Given the description of an element on the screen output the (x, y) to click on. 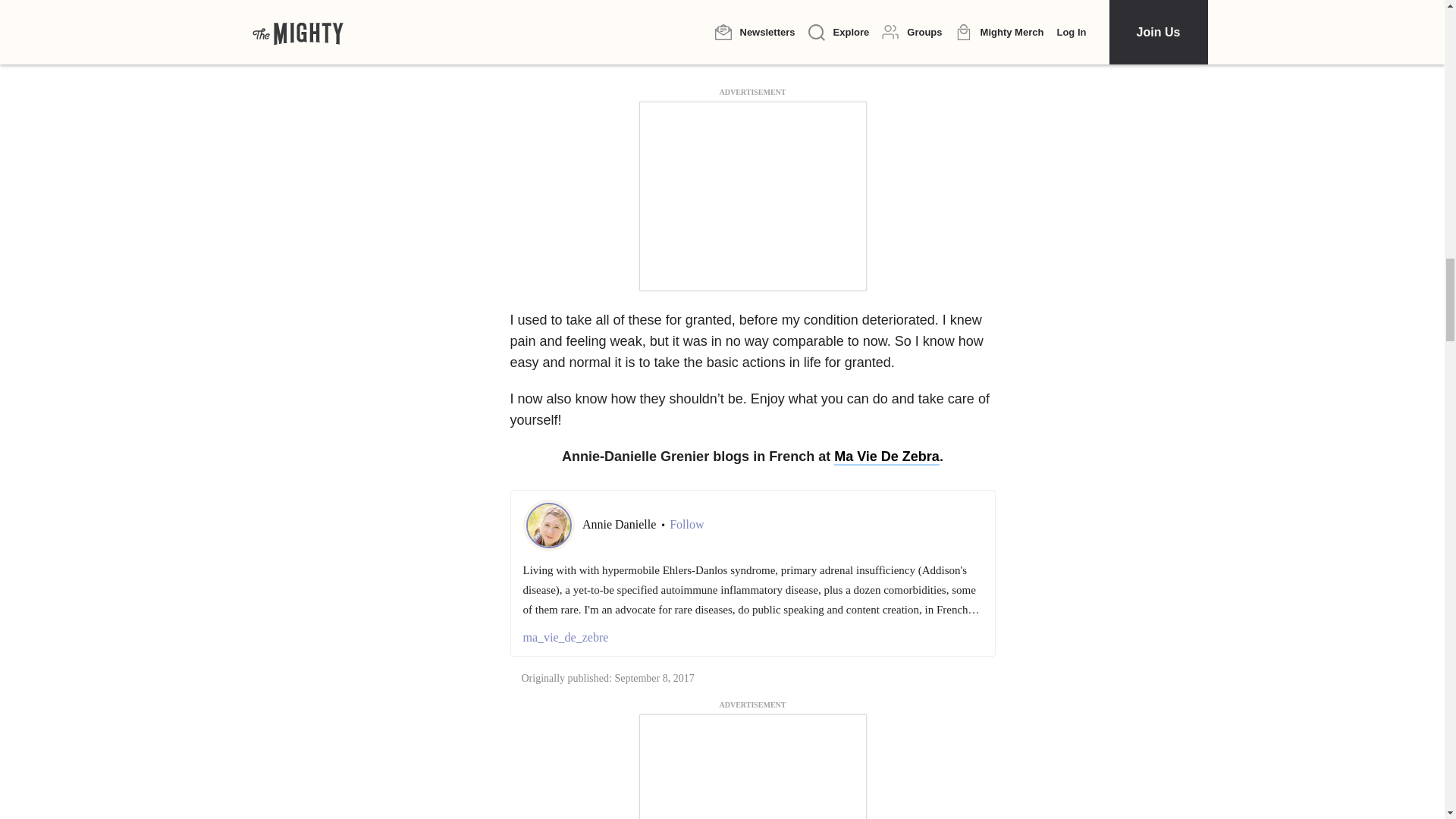
Annie Danielle (620, 523)
Ma Vie De Zebra (886, 457)
Follow (686, 524)
